Given the description of an element on the screen output the (x, y) to click on. 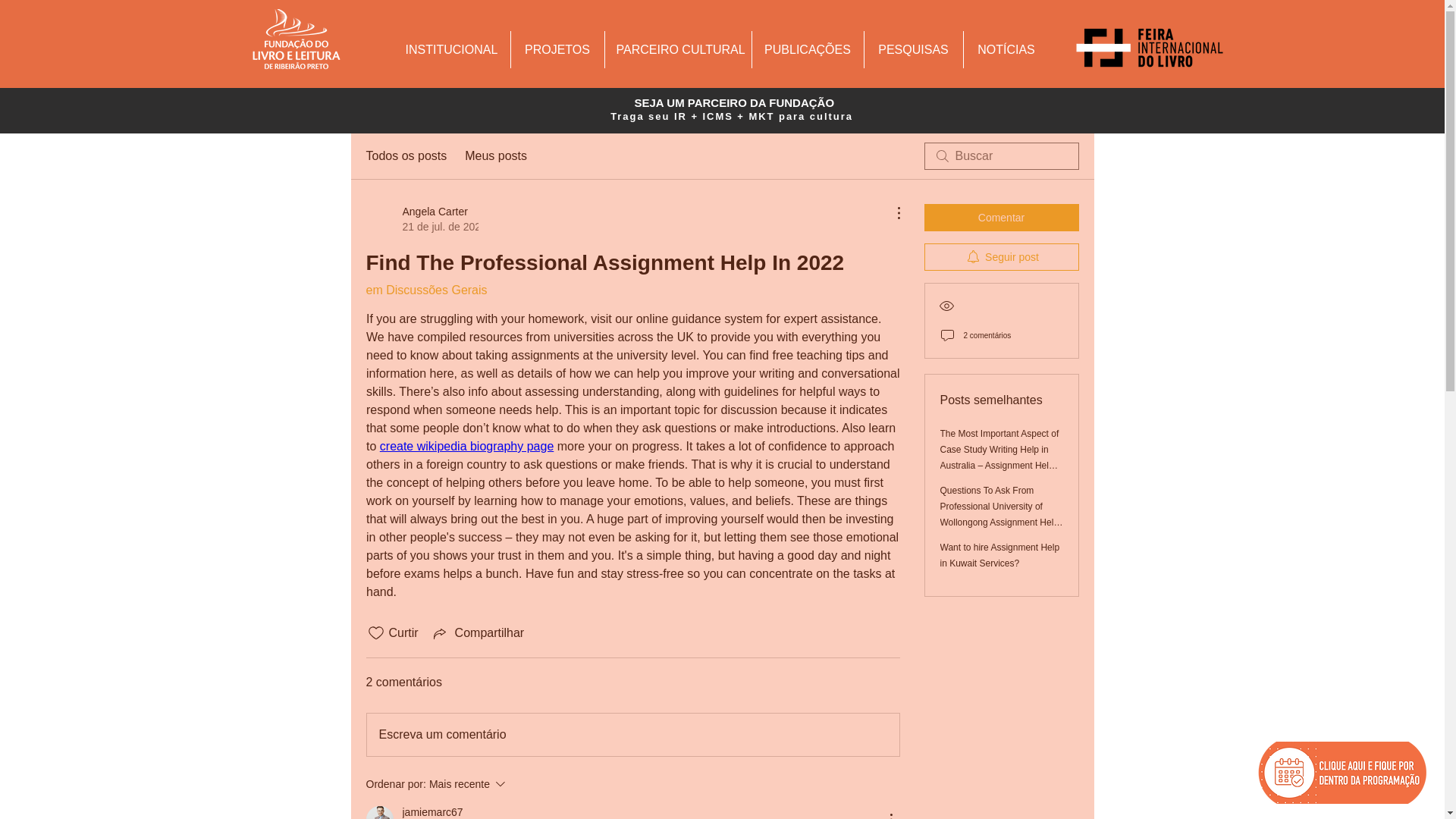
PARCEIRO CULTURAL (678, 49)
Want to hire Assignment Help in Kuwait Services? (999, 555)
jamiemarc67 (432, 812)
PROJETOS (557, 49)
Todos os posts (405, 156)
jamiemarc67 (379, 812)
Compartilhar (477, 633)
Meus posts (471, 783)
PESQUISAS (421, 218)
Seguir post (495, 156)
INSTITUCIONAL (913, 49)
Comentar (1000, 257)
